Given the description of an element on the screen output the (x, y) to click on. 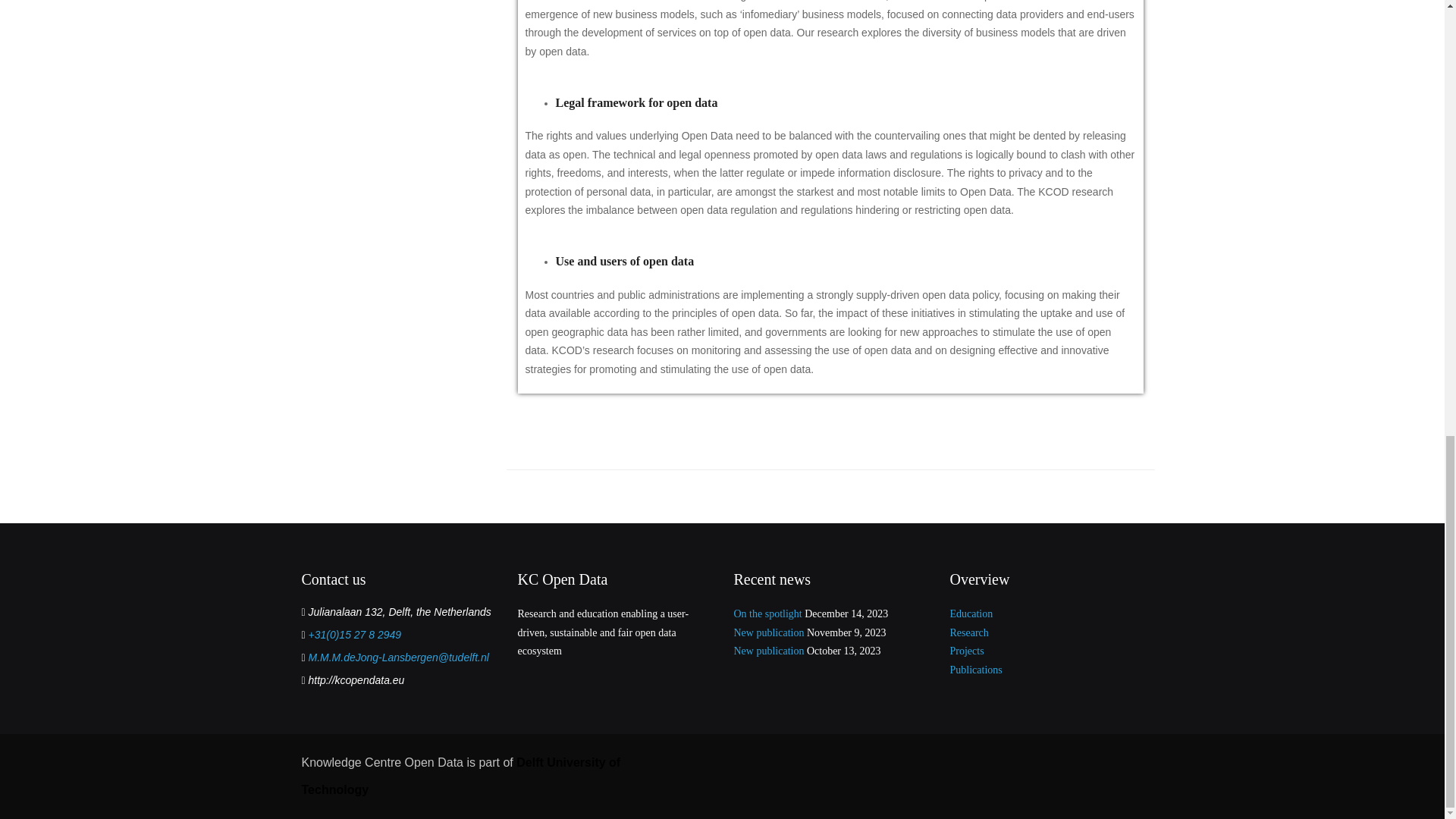
Publications (975, 669)
New publication (769, 632)
Projects (966, 650)
On the spotlight (767, 613)
Delft University of Technology (461, 775)
New publication (769, 650)
Research (968, 632)
Education (970, 613)
